Given the description of an element on the screen output the (x, y) to click on. 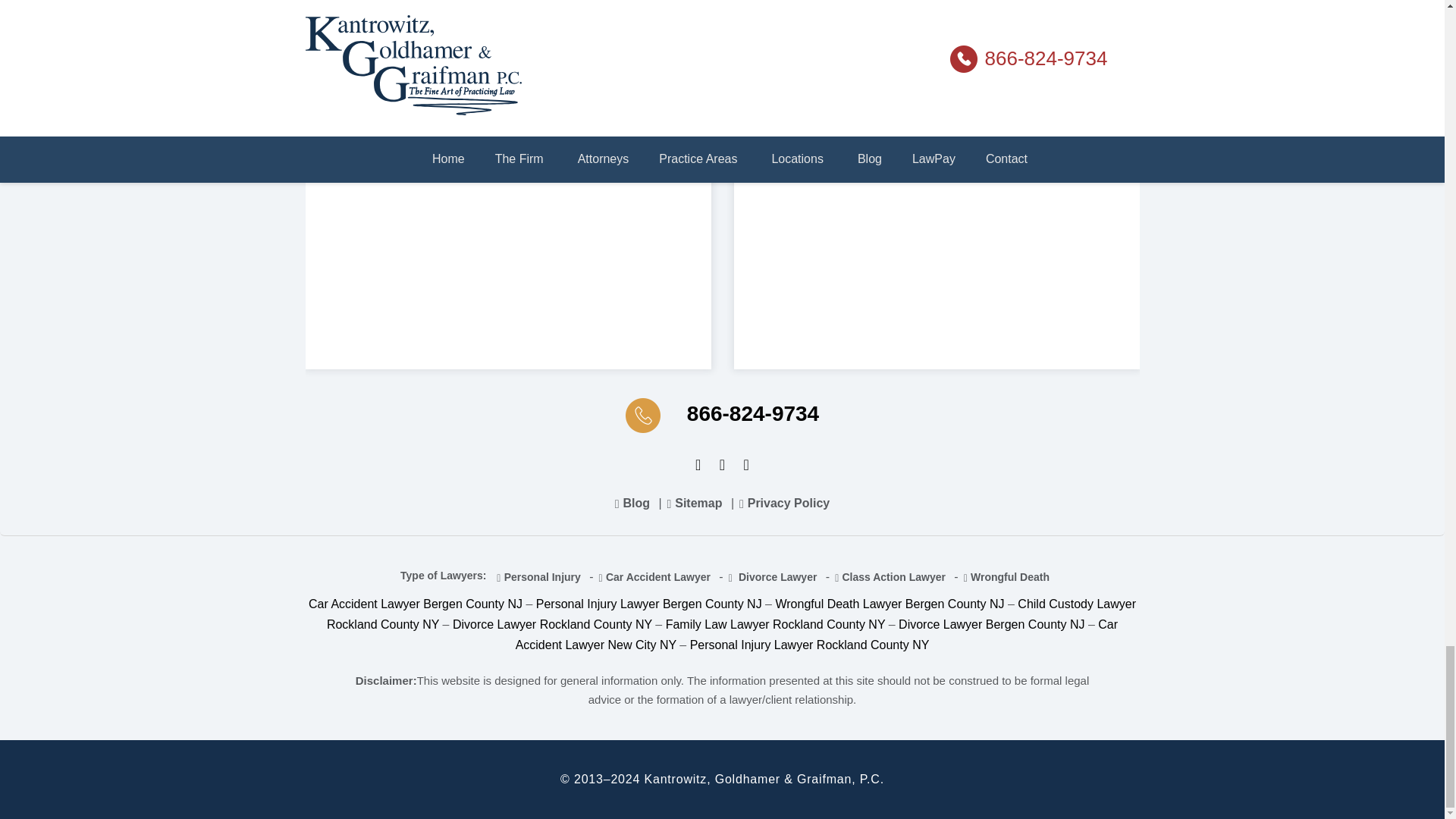
map of bergen county location (936, 170)
map of rockland county location (507, 170)
